Given the description of an element on the screen output the (x, y) to click on. 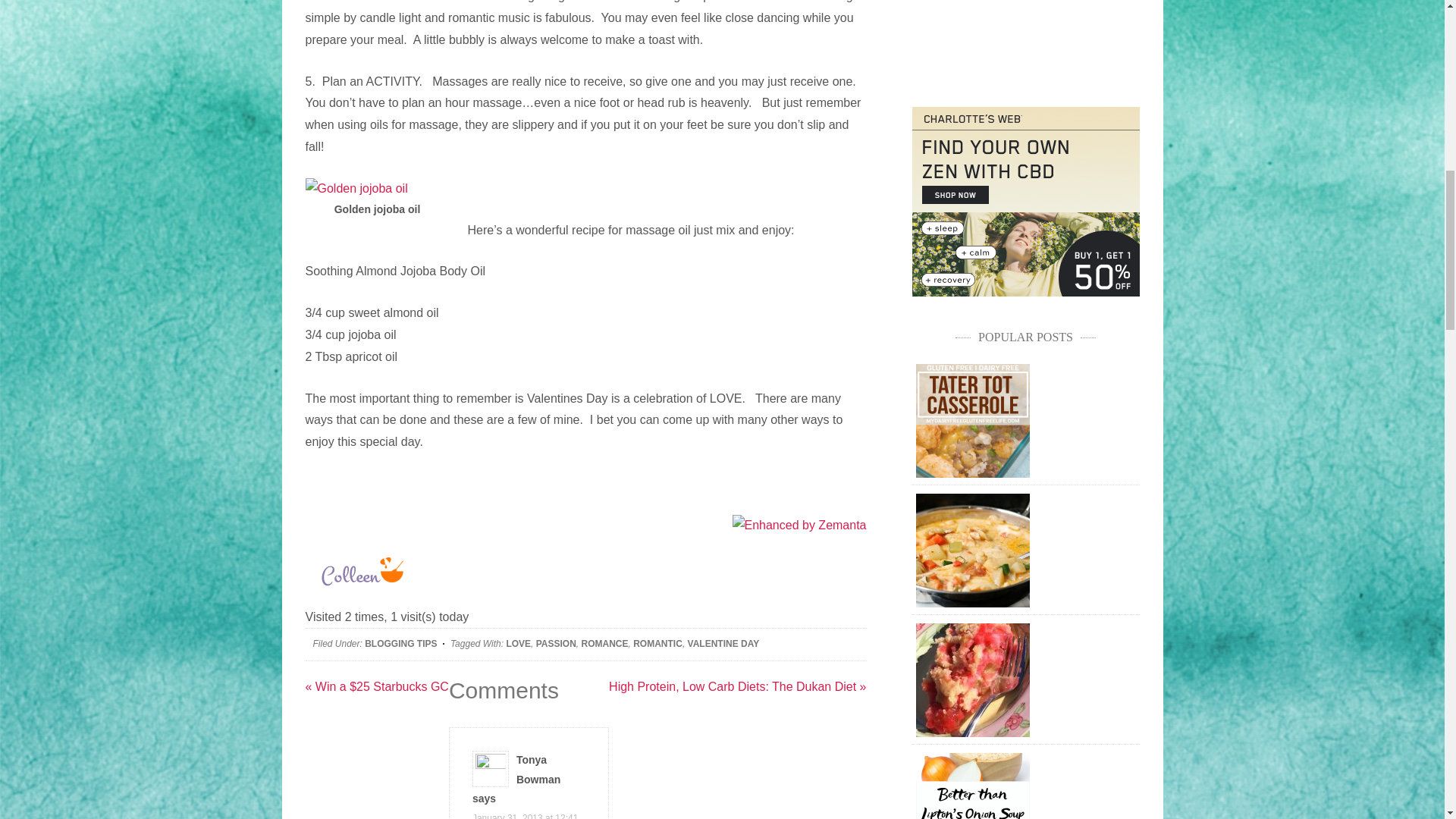
Golden jojoba oil (355, 188)
Better than Lipton's Onion Soup Mix (972, 785)
Easy Tater Tot Casserole Recipe (972, 420)
Thai Coconut Fish Soup (972, 550)
